Given the description of an element on the screen output the (x, y) to click on. 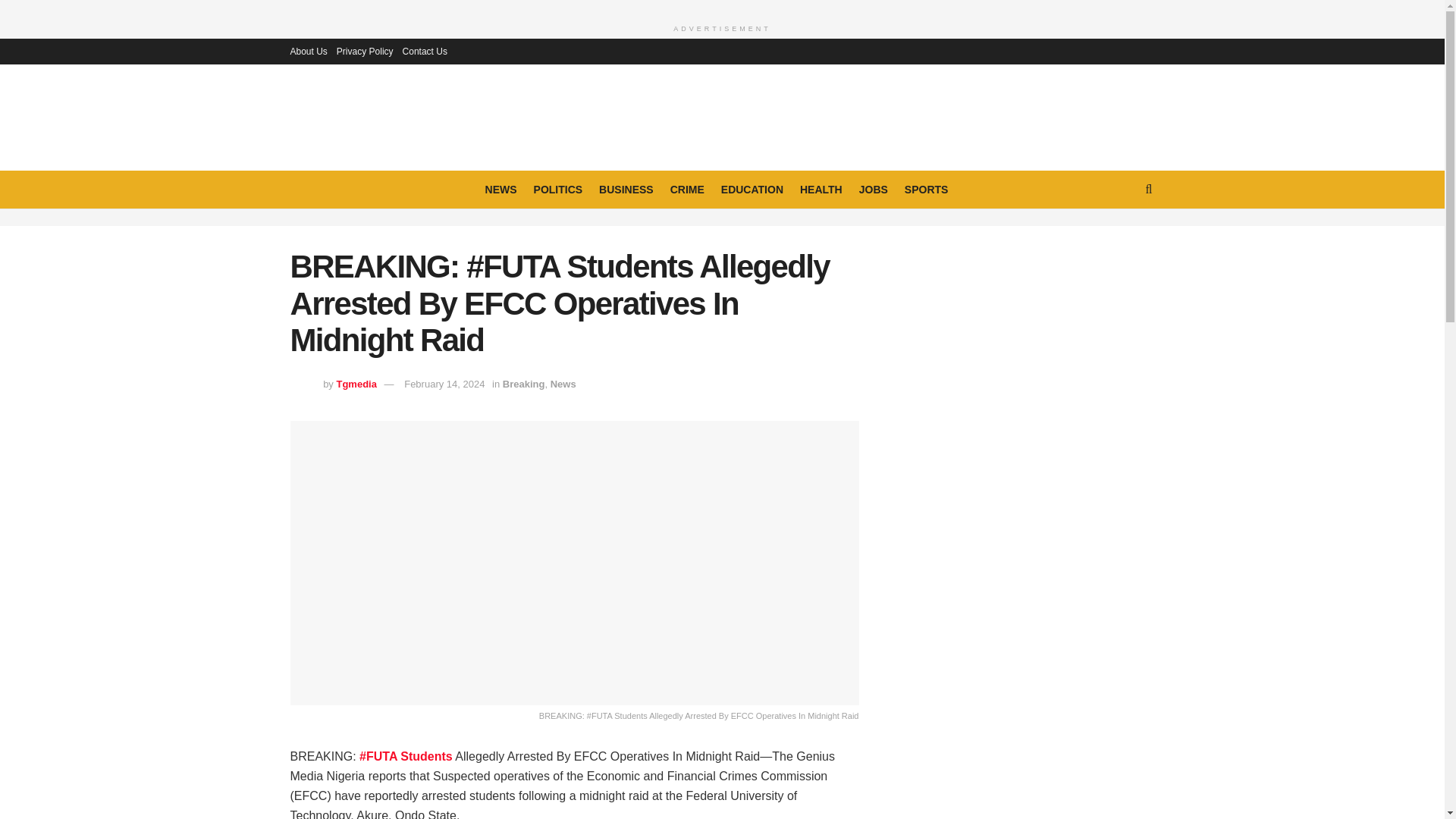
HEALTH (821, 189)
EDUCATION (751, 189)
BUSINESS (625, 189)
NEWS (500, 189)
POLITICS (558, 189)
Privacy Policy (364, 51)
JOBS (873, 189)
Contact Us (424, 51)
About Us (307, 51)
SPORTS (926, 189)
